Given the description of an element on the screen output the (x, y) to click on. 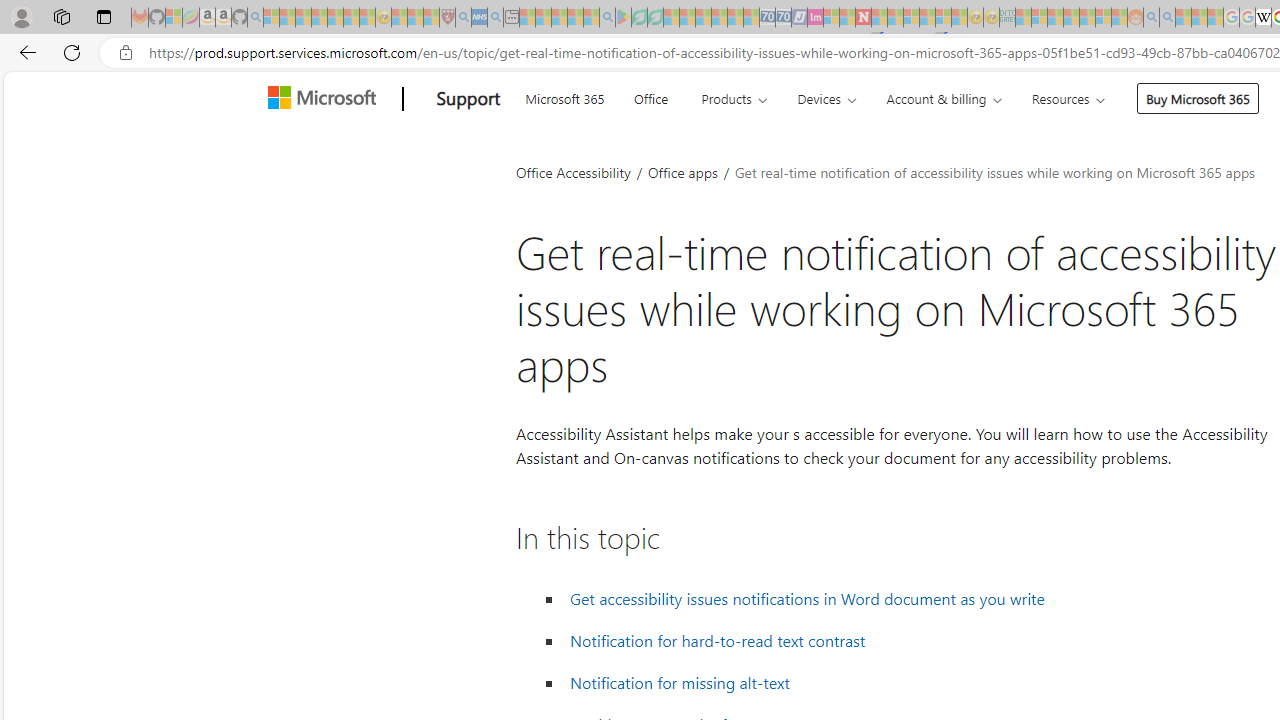
Buy Microsoft 365 (1197, 98)
Cheap Hotels - Save70.com - Sleeping (783, 17)
MSNBC - MSN - Sleeping (1023, 17)
